Given the description of an element on the screen output the (x, y) to click on. 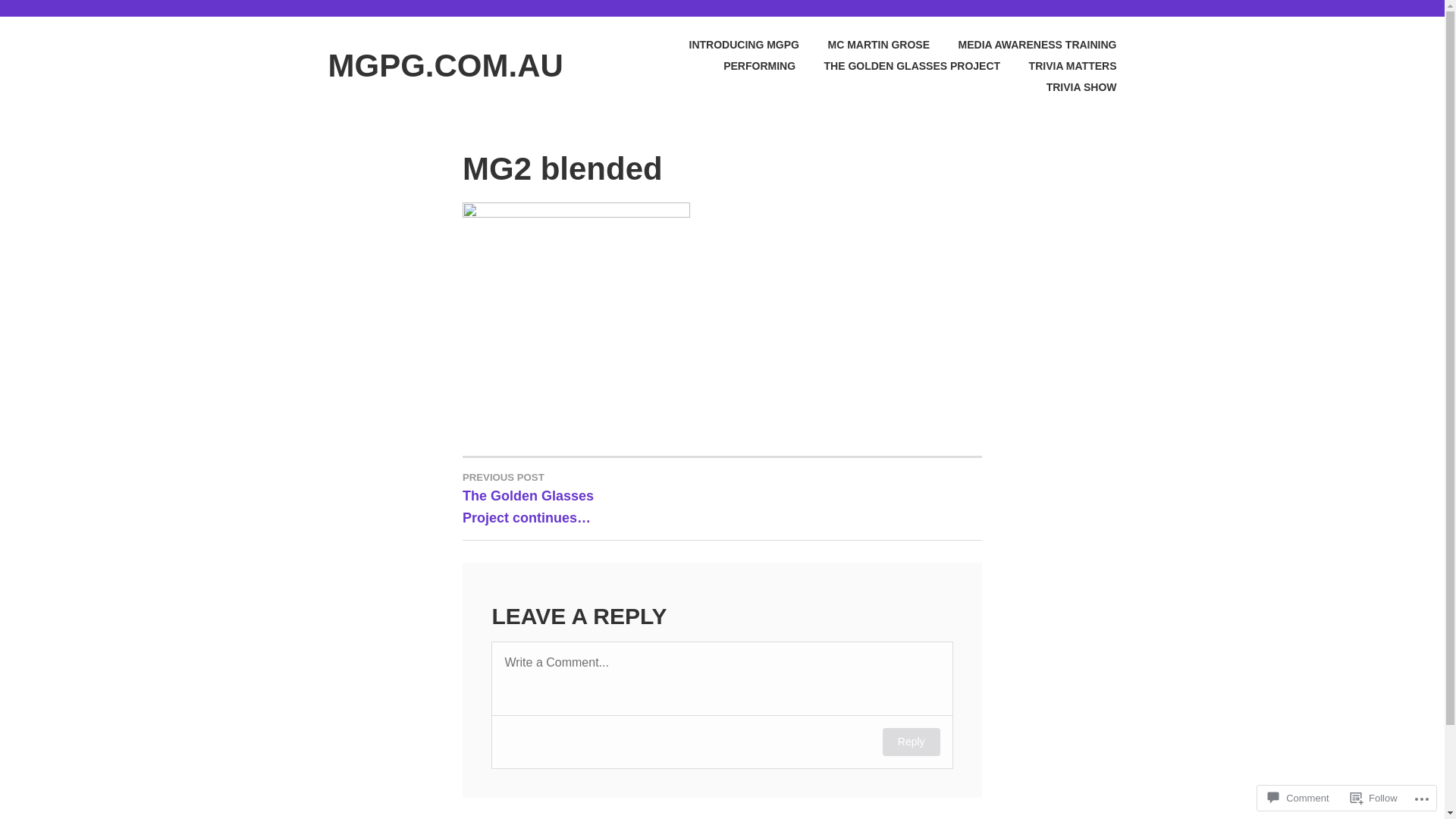
TRIVIA MATTERS Element type: text (1059, 65)
MC MARTIN GROSE Element type: text (865, 44)
MEDIA AWARENESS TRAINING Element type: text (1024, 44)
Comment Element type: text (1297, 797)
Reply Element type: text (911, 741)
THE GOLDEN GLASSES PROJECT Element type: text (899, 65)
Follow Element type: text (1373, 797)
TRIVIA SHOW Element type: text (1068, 86)
INTRODUCING MGPG Element type: text (731, 44)
PERFORMING Element type: text (746, 65)
MGPG.COM.AU Element type: text (444, 65)
